Given the description of an element on the screen output the (x, y) to click on. 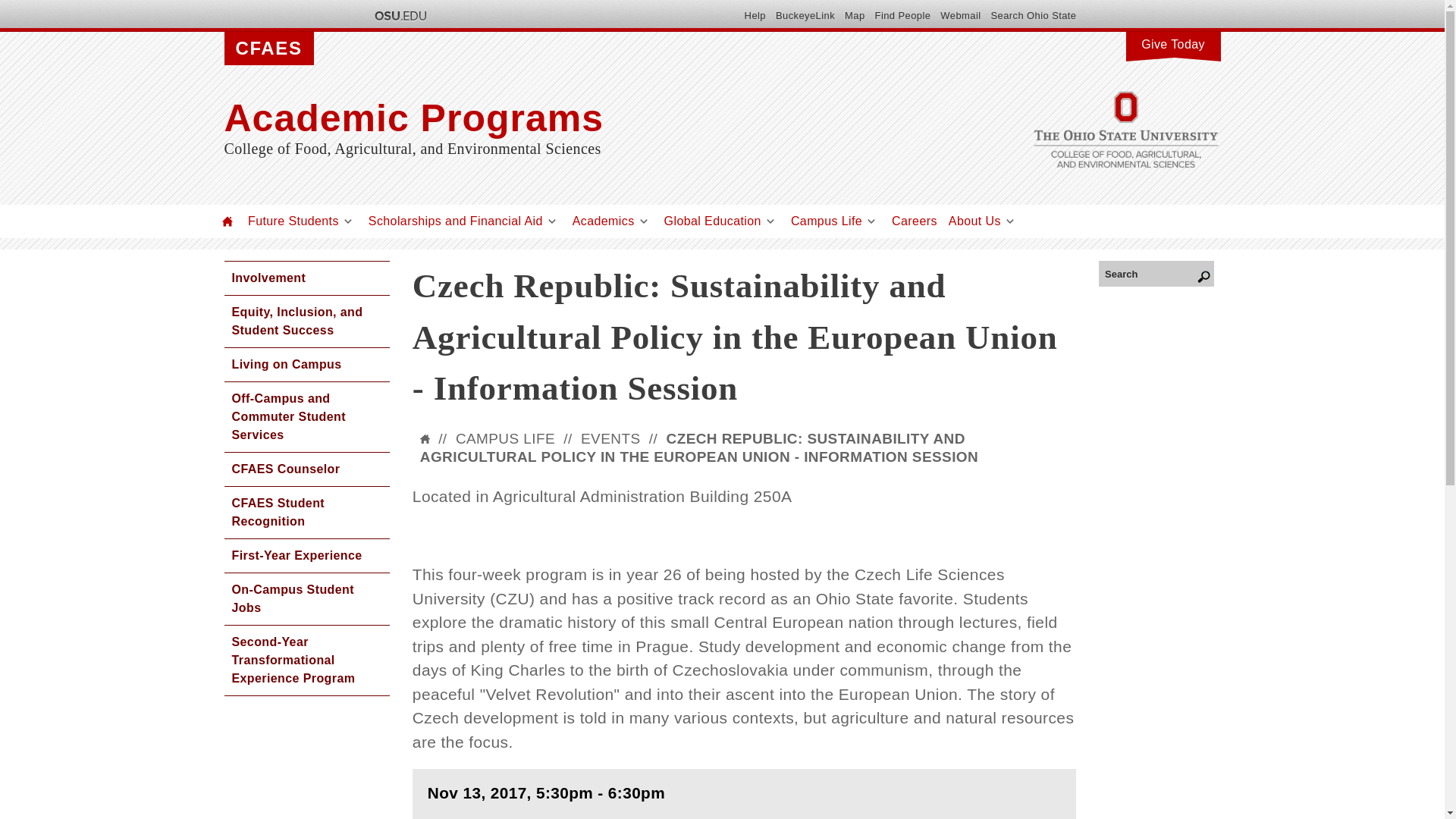
Scholarships and Financial Aid (455, 221)
The Ohio State University (399, 15)
Enter the terms you wish to search for. (1155, 273)
Map (854, 15)
CFAES (269, 48)
Home (572, 118)
Skip to main content (686, 1)
Future Students (293, 221)
Help (754, 15)
Webmail (959, 15)
Academic Programs (572, 118)
Home (226, 221)
Search Ohio State (1032, 15)
Find People (903, 15)
BuckeyeLink (805, 15)
